Given the description of an element on the screen output the (x, y) to click on. 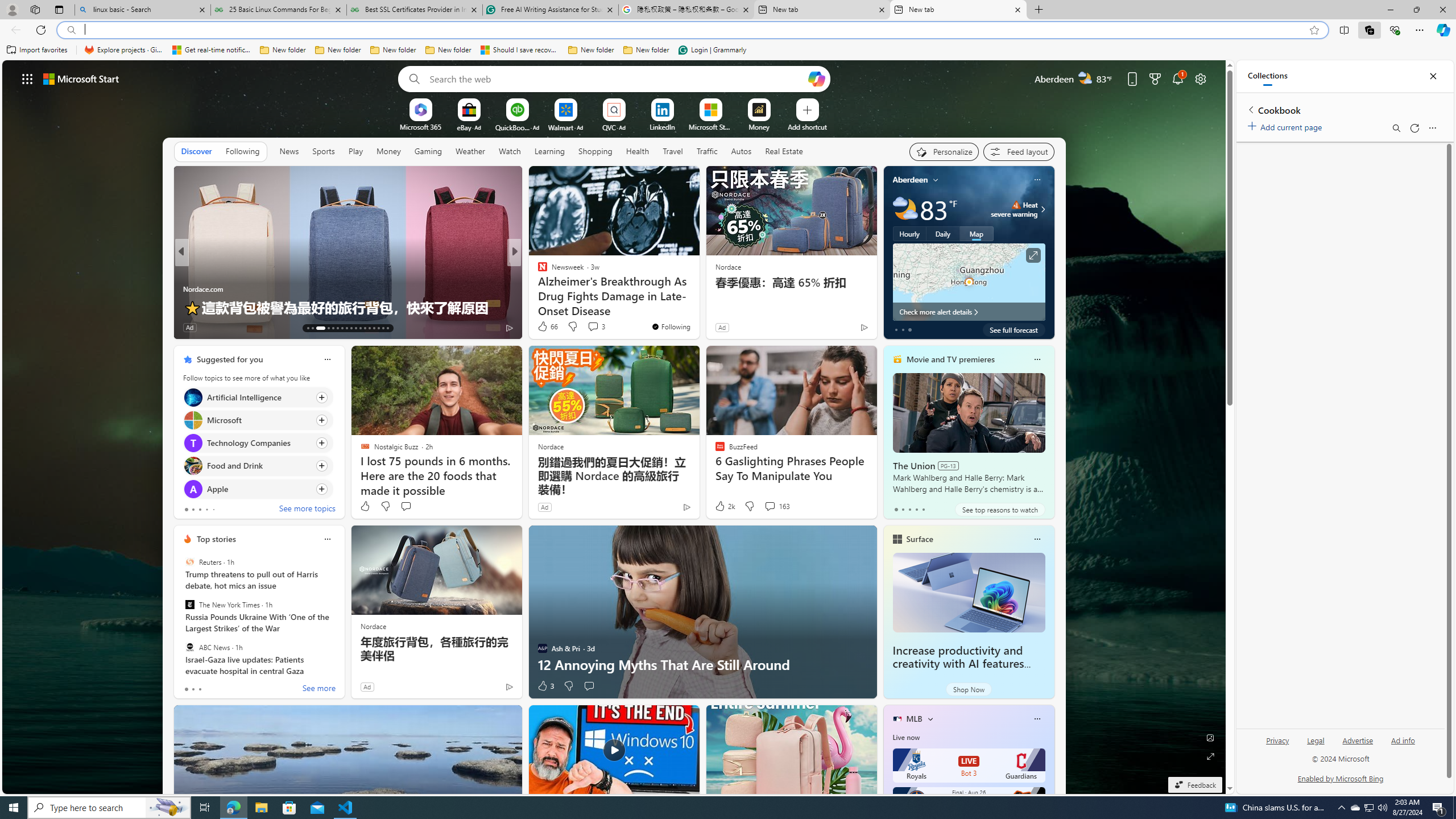
Money (387, 151)
15 Bad Hygiene Habits That Could Actually Make You Sick (697, 298)
Travel (672, 151)
LinkedIn (662, 126)
View comments 16 Comment (597, 327)
View comments 1 Comment (585, 327)
Login | Grammarly (712, 49)
Daily (942, 233)
95 Like (543, 327)
